Given the description of an element on the screen output the (x, y) to click on. 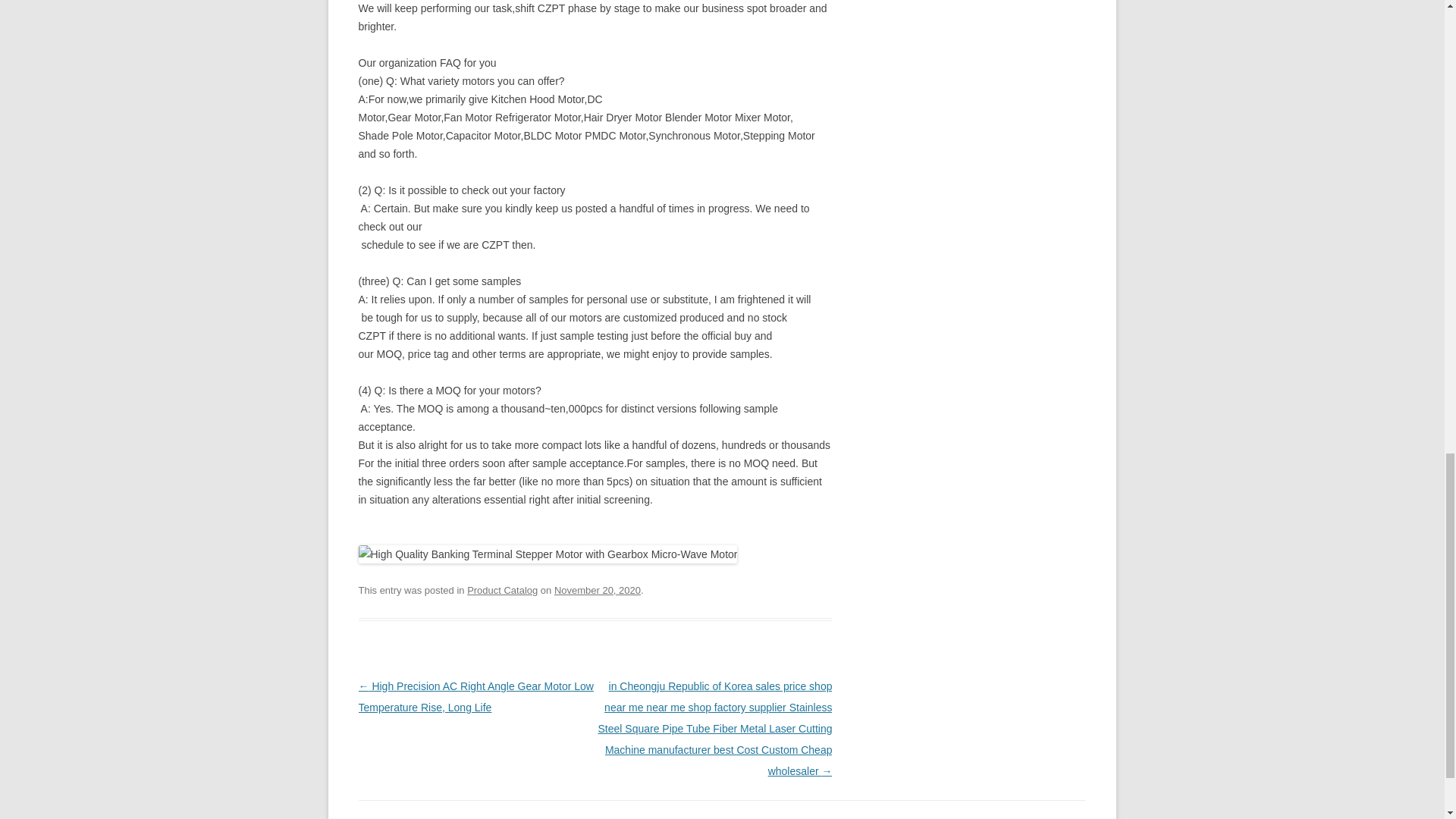
November 20, 2020 (597, 590)
8:43 am (597, 590)
Product Catalog (502, 590)
